Given the description of an element on the screen output the (x, y) to click on. 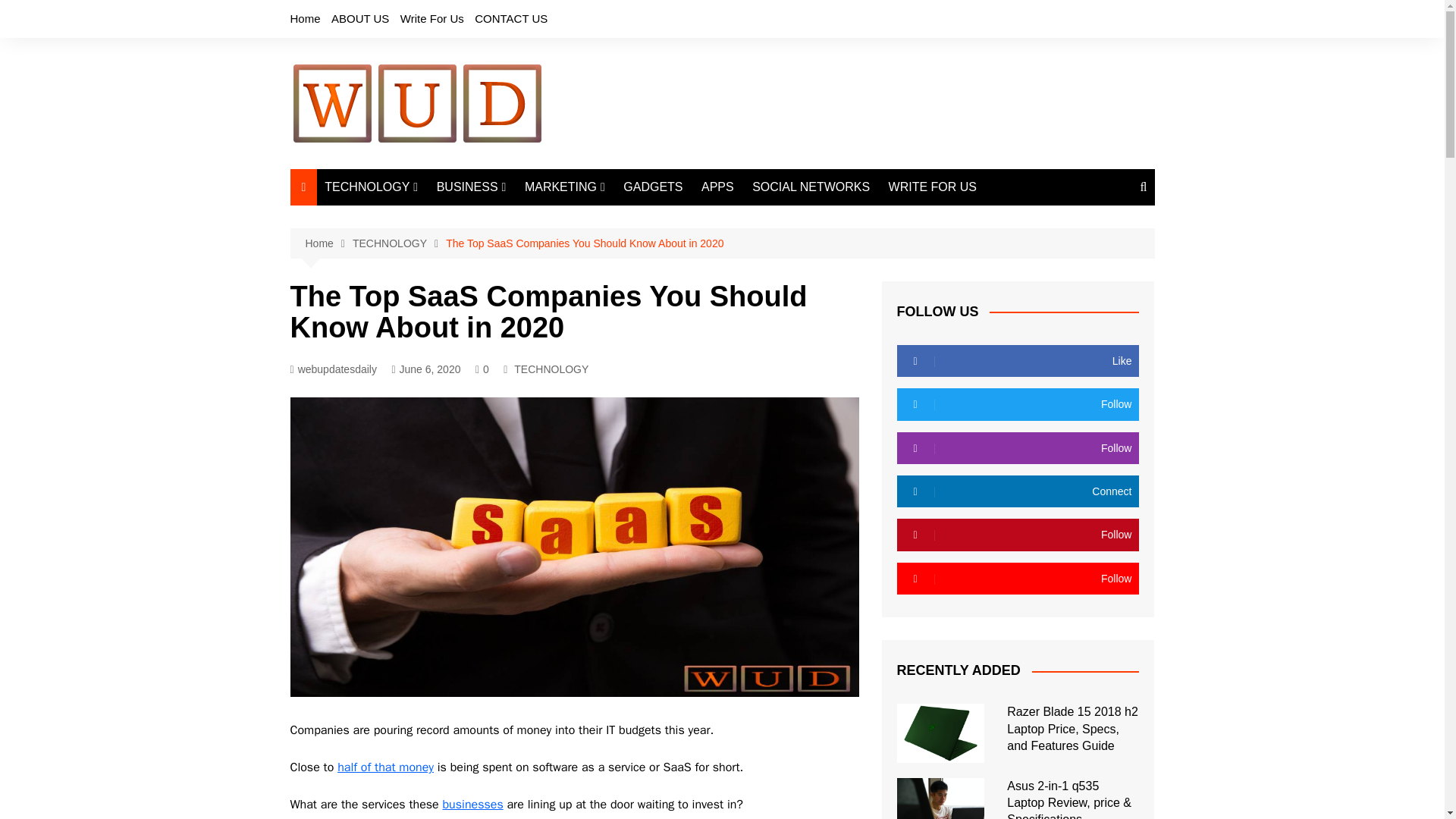
The Top SaaS Companies You Should Know About in 2020 (584, 243)
ABOUT US (359, 18)
Blockchain Technology (400, 317)
Write For Us (432, 18)
June 6, 2020 (425, 369)
WRITE FOR US (932, 186)
0 (482, 369)
businesses (472, 804)
Digitalization (400, 292)
TECHNOLOGY (550, 369)
MARKETING (564, 186)
webupdatesdaily (332, 369)
BUSINESS (471, 186)
TECHNOLOGY (398, 243)
Internet Of Things (400, 267)
